Given the description of an element on the screen output the (x, y) to click on. 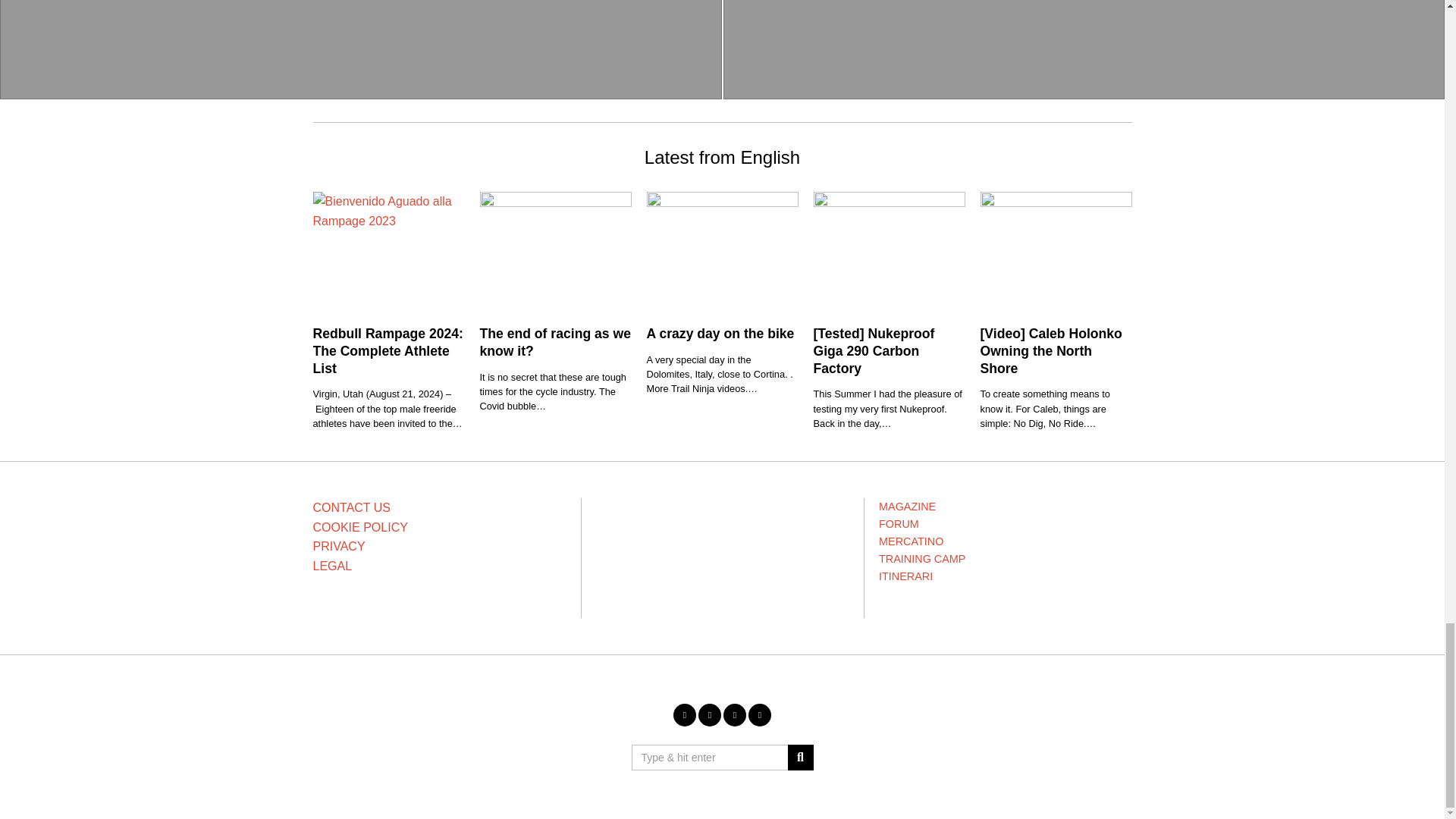
Tiktok (759, 714)
A crazy day on the bike (719, 333)
Facebook (683, 714)
Redbull Rampage 2024: The Complete Athlete List (388, 350)
Go (799, 757)
The end of racing as we know it? (554, 341)
Instagram (709, 714)
YouTube (734, 714)
